Given the description of an element on the screen output the (x, y) to click on. 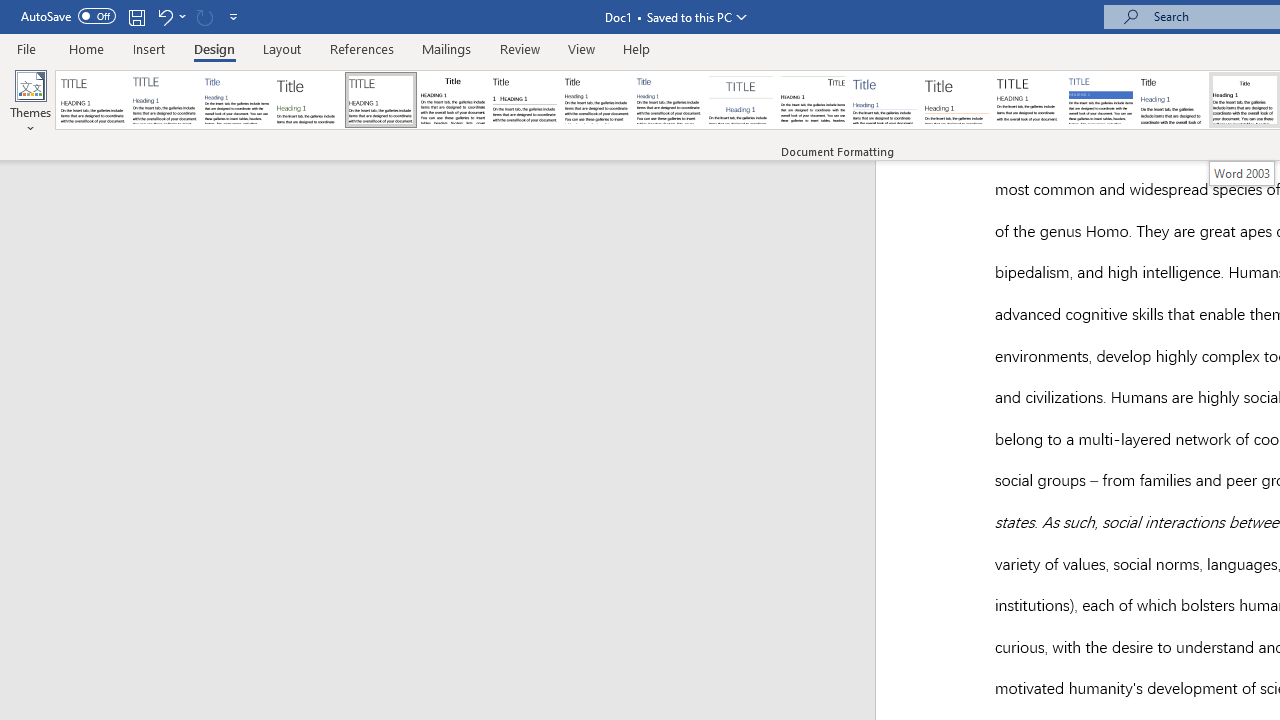
Lines (Simple) (884, 100)
Lines (Distinctive) (812, 100)
Basic (Elegant) (164, 100)
Themes (30, 102)
Undo Apply Quick Style Set (164, 15)
Can't Repeat (204, 15)
